Given the description of an element on the screen output the (x, y) to click on. 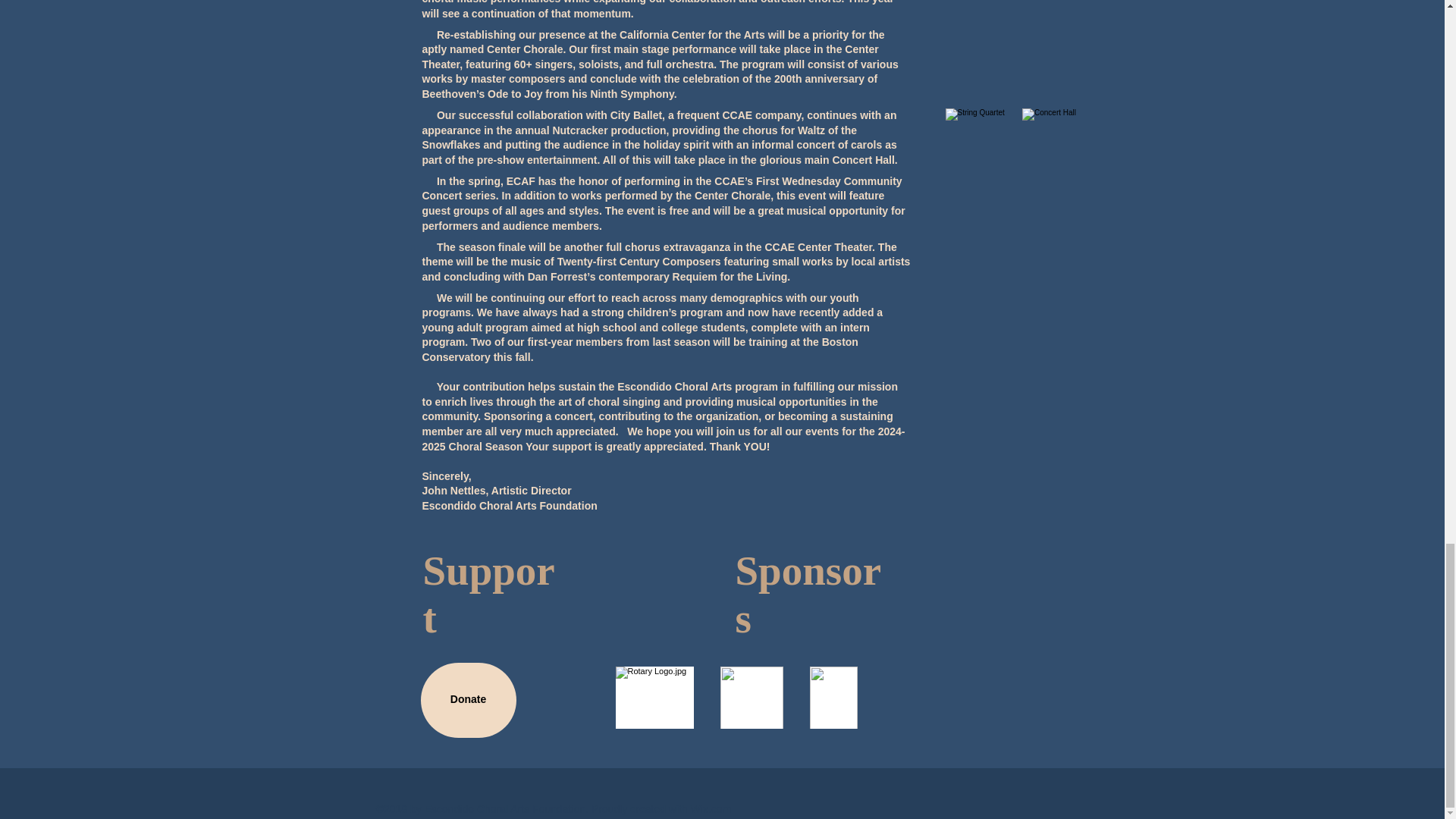
Donate (467, 699)
